Given the description of an element on the screen output the (x, y) to click on. 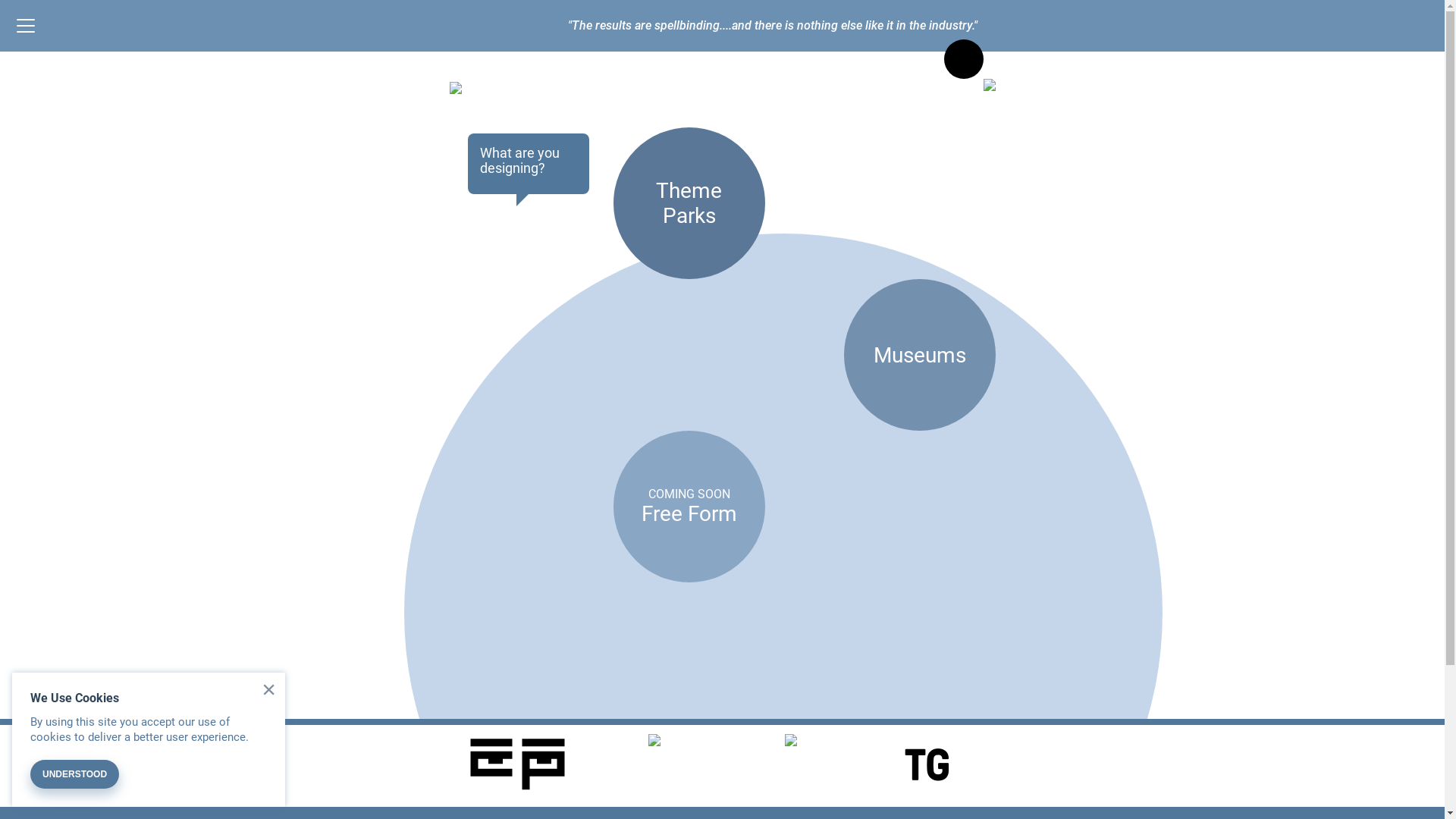
Museums Element type: text (918, 354)
UNDERSTOOD Element type: text (74, 773)
Theme
Parks Element type: text (688, 203)
